Given the description of an element on the screen output the (x, y) to click on. 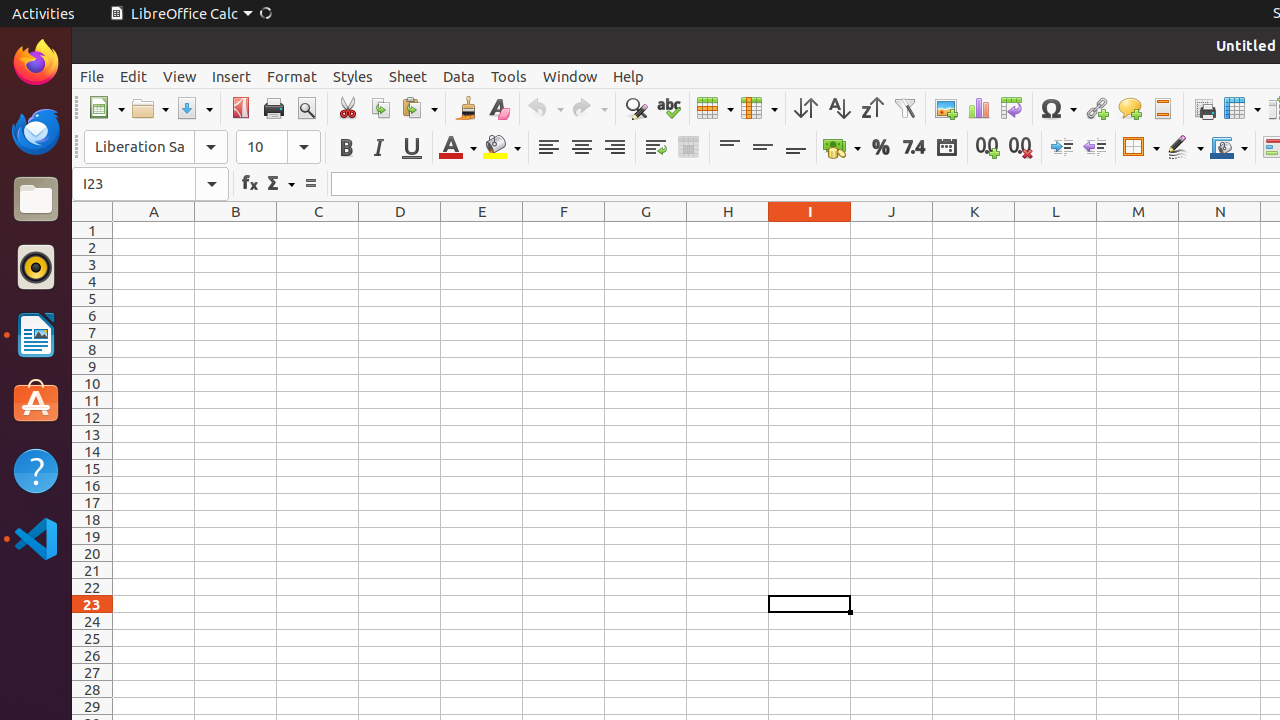
J1 Element type: table-cell (892, 230)
L1 Element type: table-cell (1056, 230)
Bold Element type: toggle-button (345, 147)
Percent Element type: push-button (880, 147)
Print Area Element type: push-button (1203, 108)
